Given the description of an element on the screen output the (x, y) to click on. 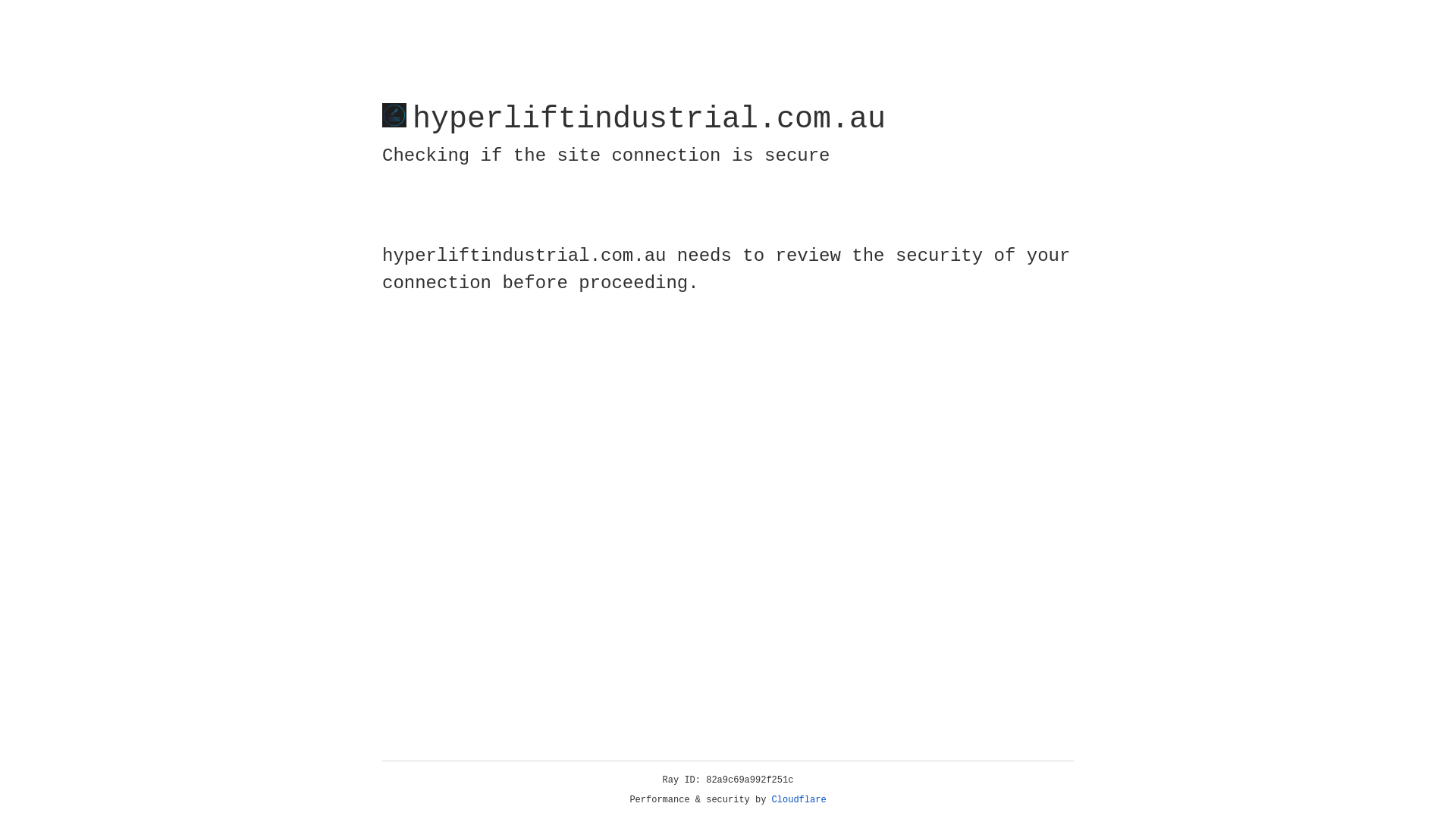
Cloudflare Element type: text (798, 799)
